Given the description of an element on the screen output the (x, y) to click on. 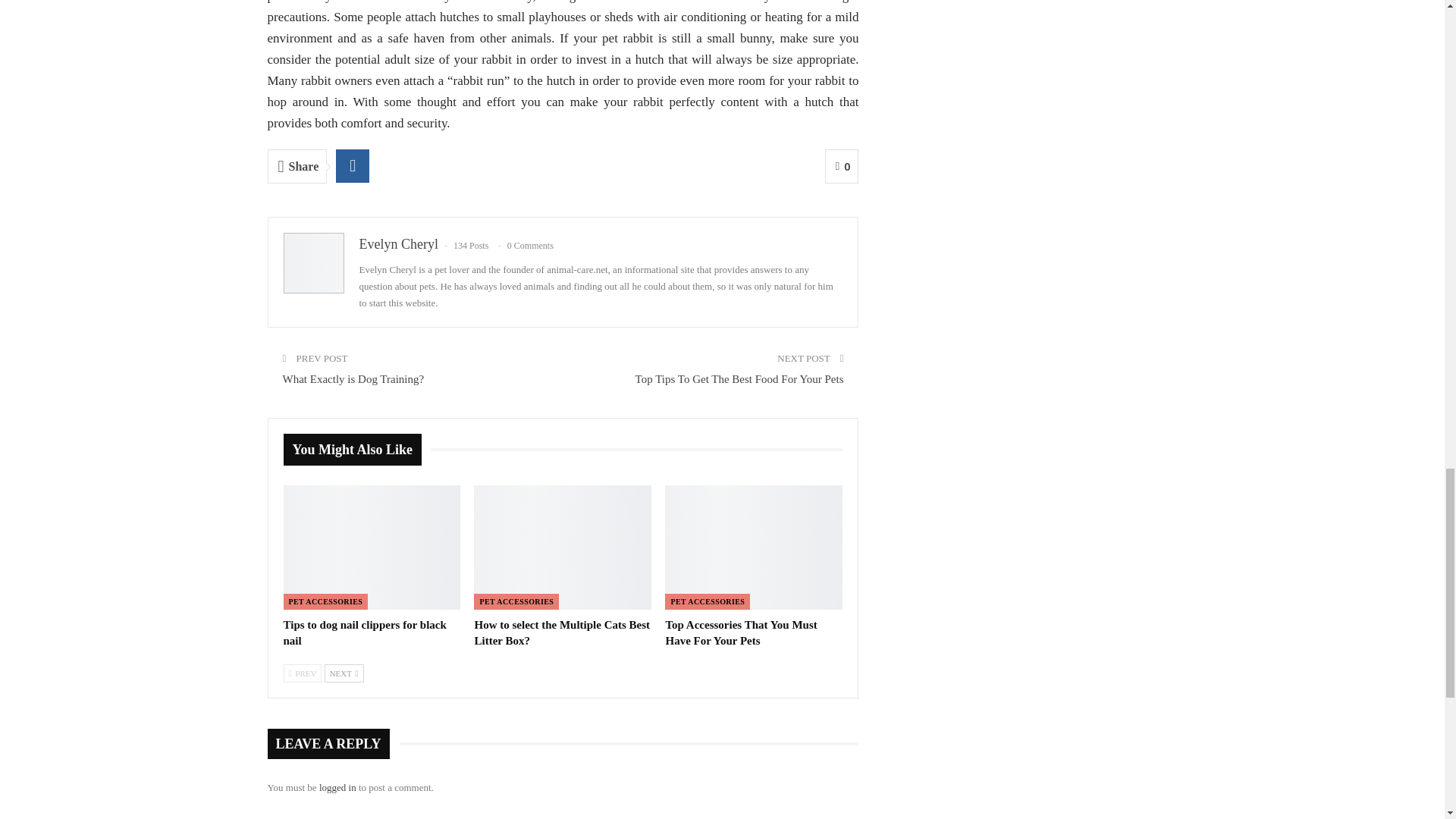
Top Tips To Get The Best Food For Your Pets (739, 378)
Evelyn Cheryl (398, 243)
Top Accessories That You Must Have For Your Pets (754, 547)
Tips to dog nail clippers for black nail (372, 547)
What Exactly is Dog Training? (352, 378)
You Might Also Like (356, 449)
PET ACCESSORIES (707, 601)
Top Accessories That You Must Have For Your Pets (740, 633)
How to select the Multiple Cats Best Litter Box? (562, 547)
PET ACCESSORIES (516, 601)
0 (842, 166)
Top Accessories That You Must Have For Your Pets (740, 633)
Tips to dog nail clippers for black nail (364, 633)
Tips to dog nail clippers for black nail (364, 633)
How to select the Multiple Cats Best Litter Box? (561, 633)
